Given the description of an element on the screen output the (x, y) to click on. 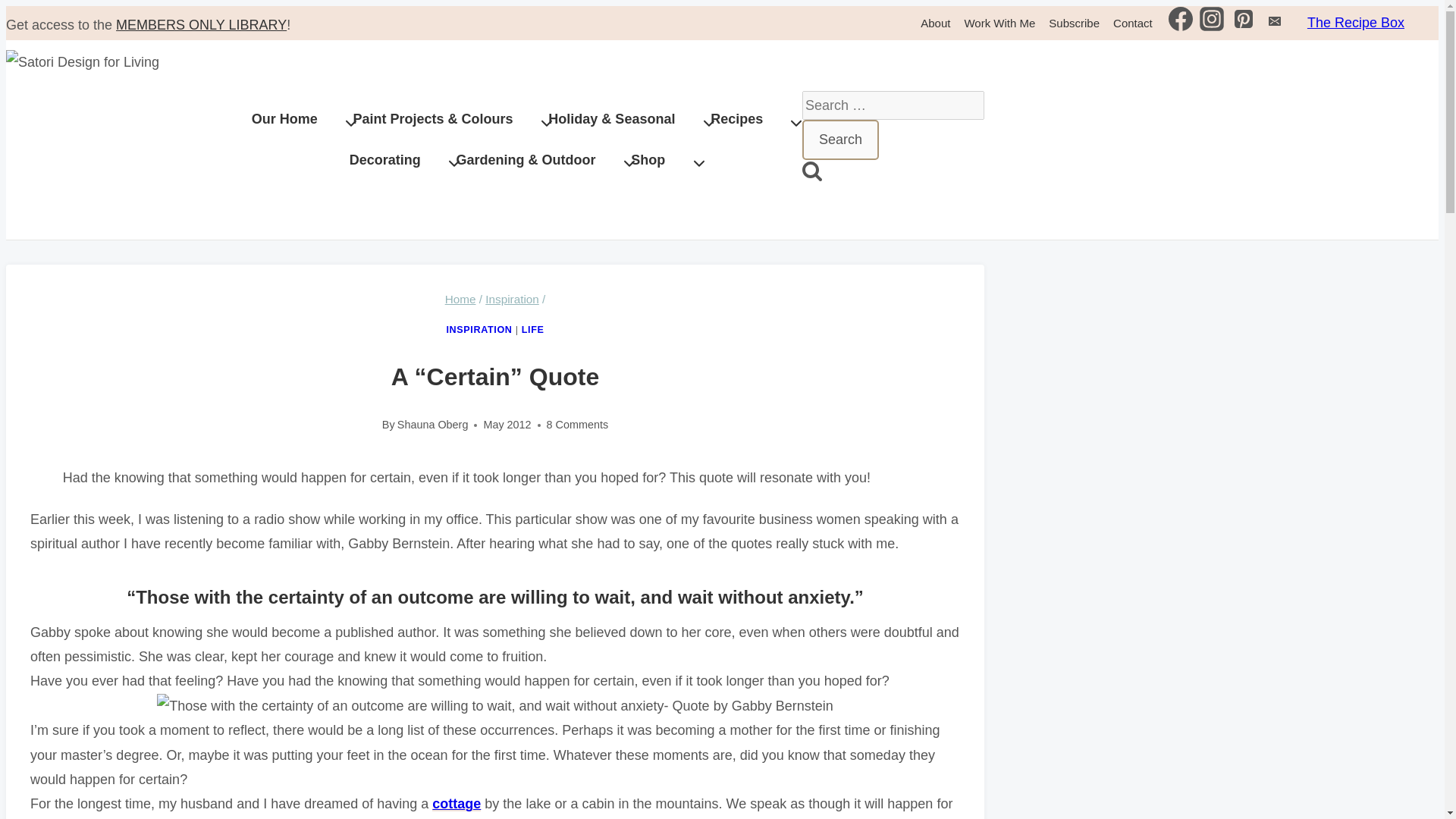
Expand (454, 163)
Facebook (1180, 18)
Wall Paint Colours, Furniture Refinishing Projects and More (450, 119)
Design and Decorating Projects Around Our House (302, 119)
Subscribe (1080, 22)
Search (840, 138)
Contact (1139, 22)
Get in touch with Satori Design for Living (1139, 22)
Expand (698, 163)
Expand (629, 163)
Work With Me (1005, 22)
Pinterest (1243, 22)
Email (1274, 22)
